Given the description of an element on the screen output the (x, y) to click on. 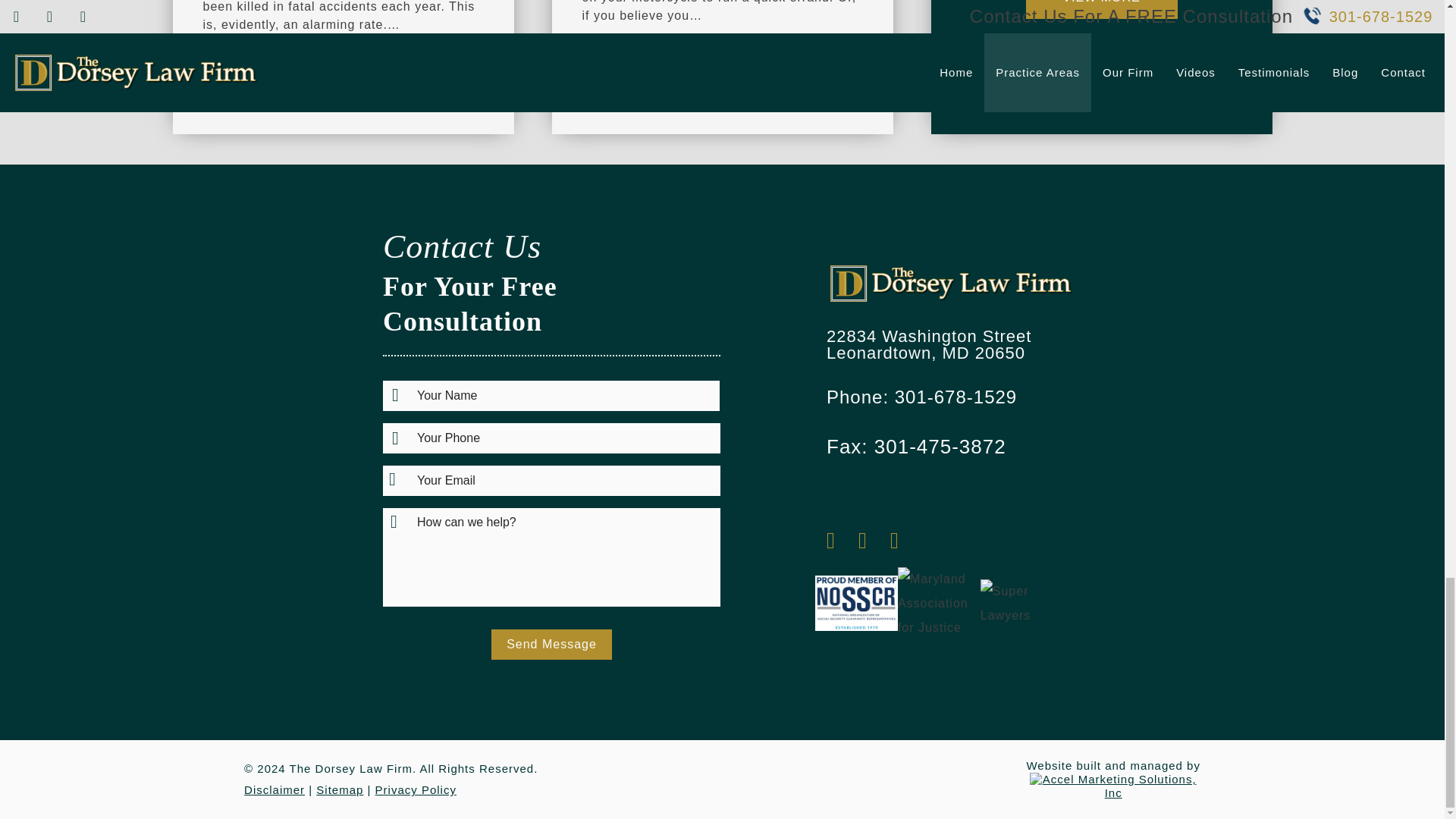
Send Message (551, 644)
